Given the description of an element on the screen output the (x, y) to click on. 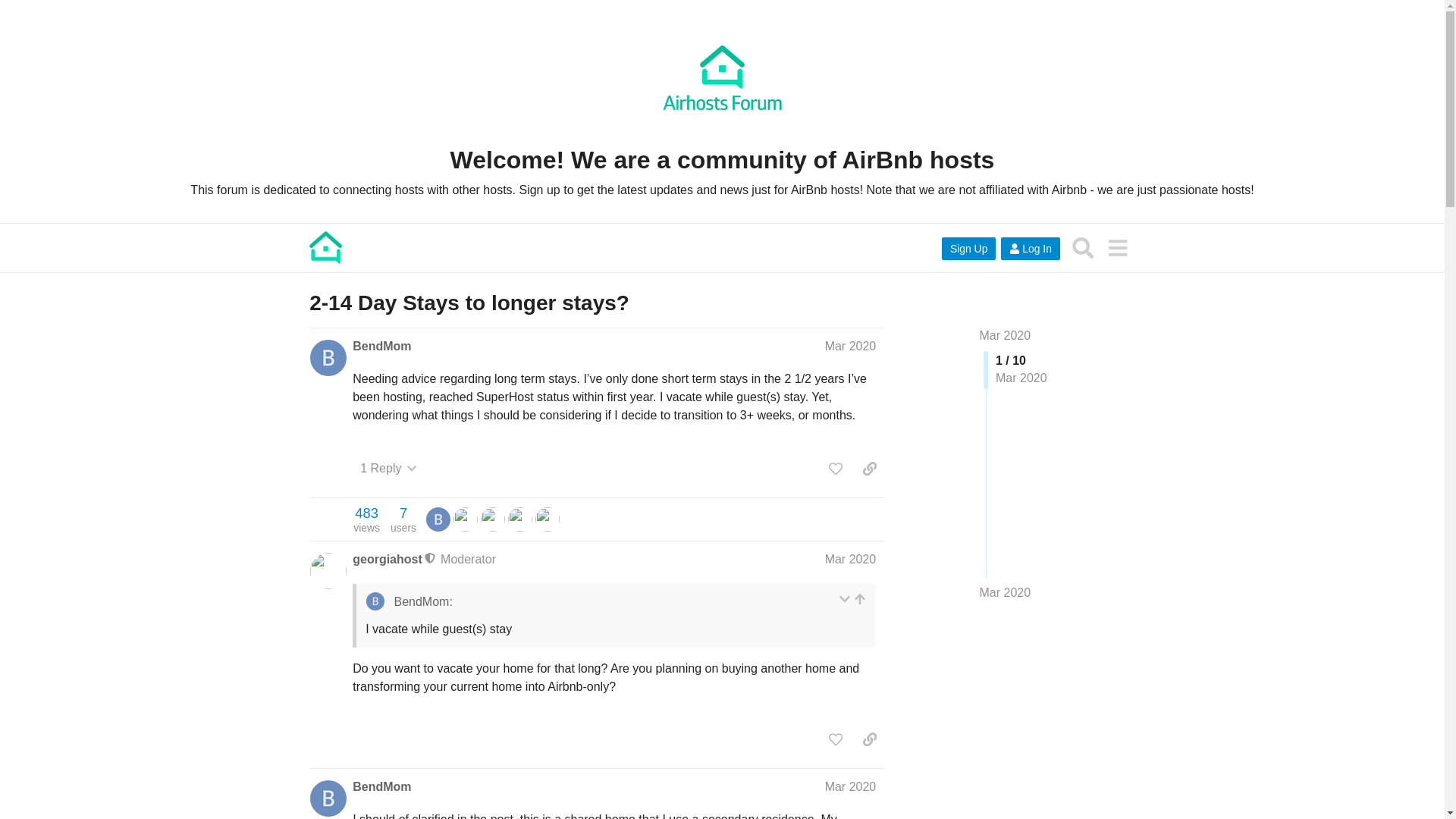
georgiahost (547, 518)
BendMom (381, 786)
Search (1082, 247)
jaquo (520, 518)
Mar 2020 (850, 558)
Rebecca Forrest (366, 519)
Mar 2020 (492, 518)
2-14 Day Stays to longer stays? (1004, 335)
copy a link to this post to clipboard (468, 302)
